Given the description of an element on the screen output the (x, y) to click on. 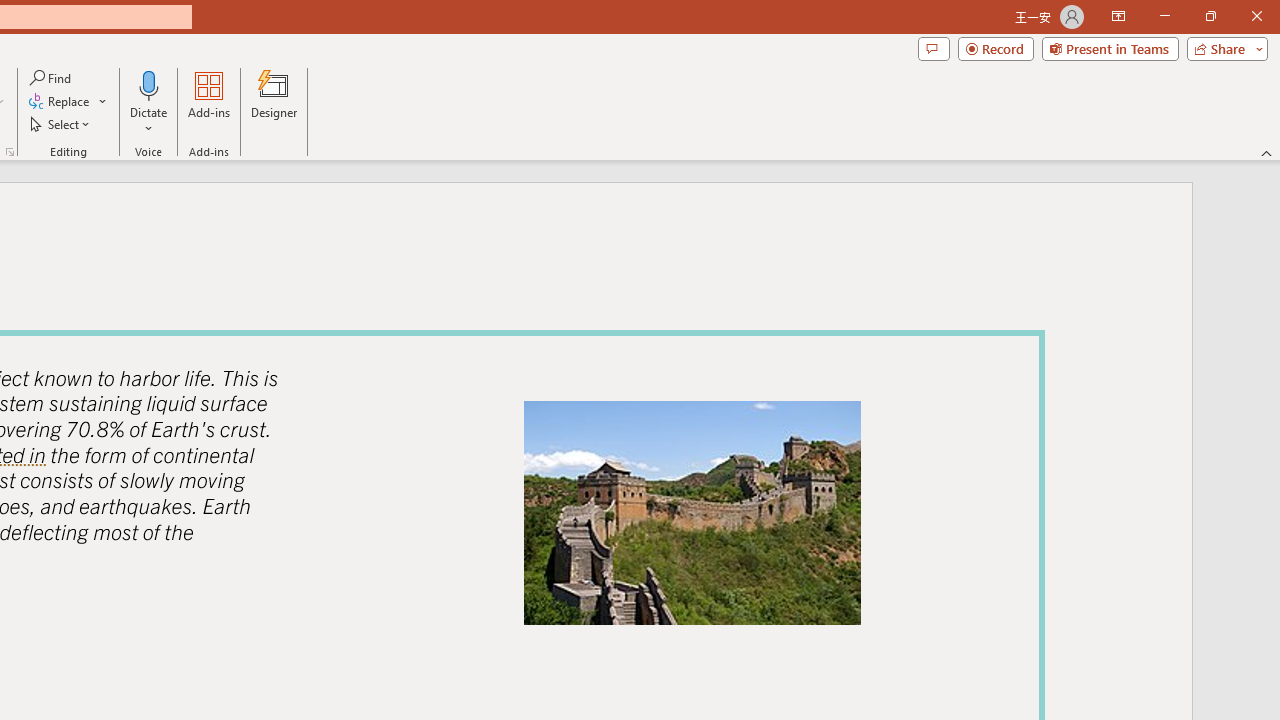
Select (61, 124)
